Given the description of an element on the screen output the (x, y) to click on. 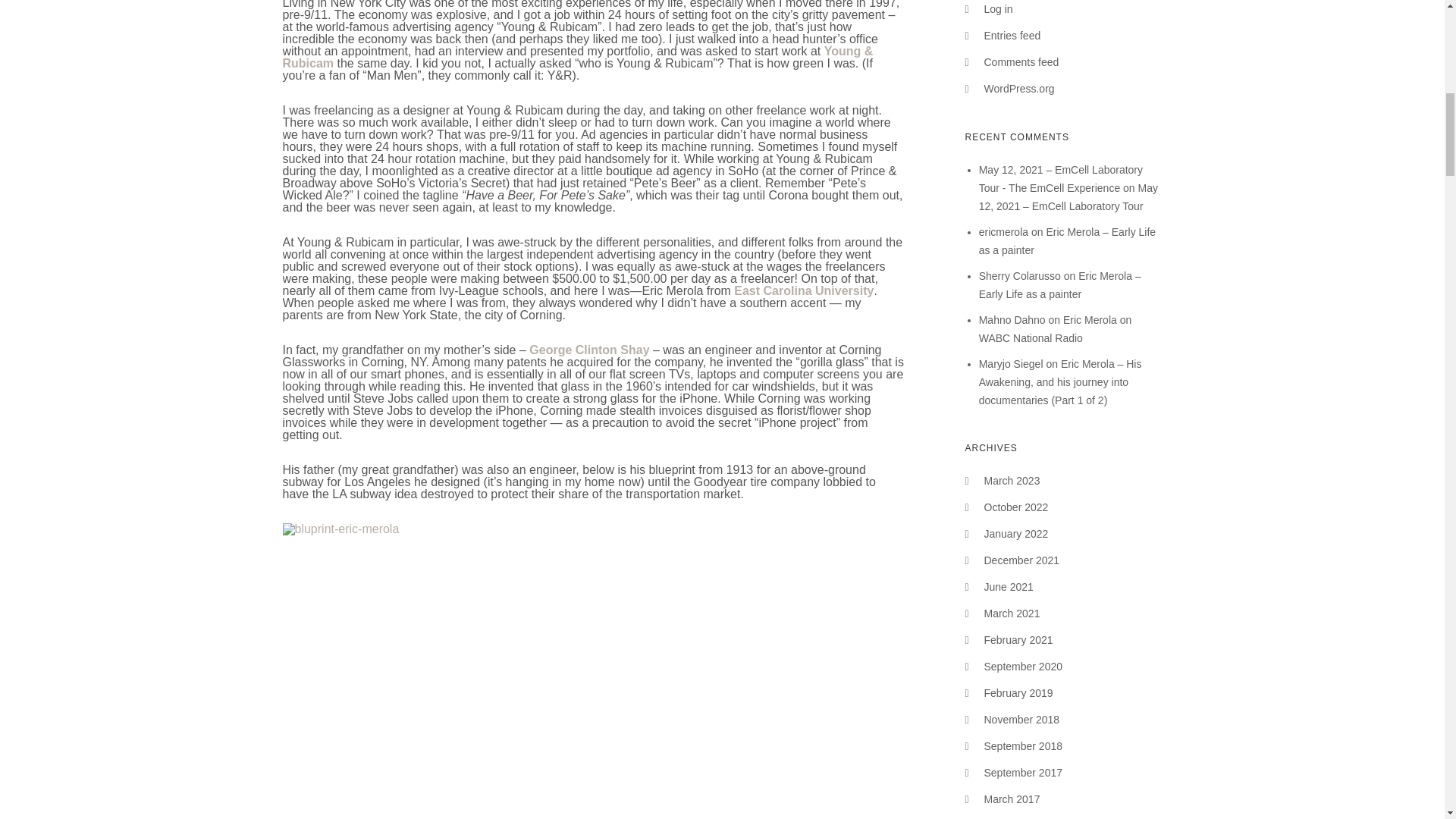
East Carolina University (803, 290)
George Clinton Shay (589, 349)
